Given the description of an element on the screen output the (x, y) to click on. 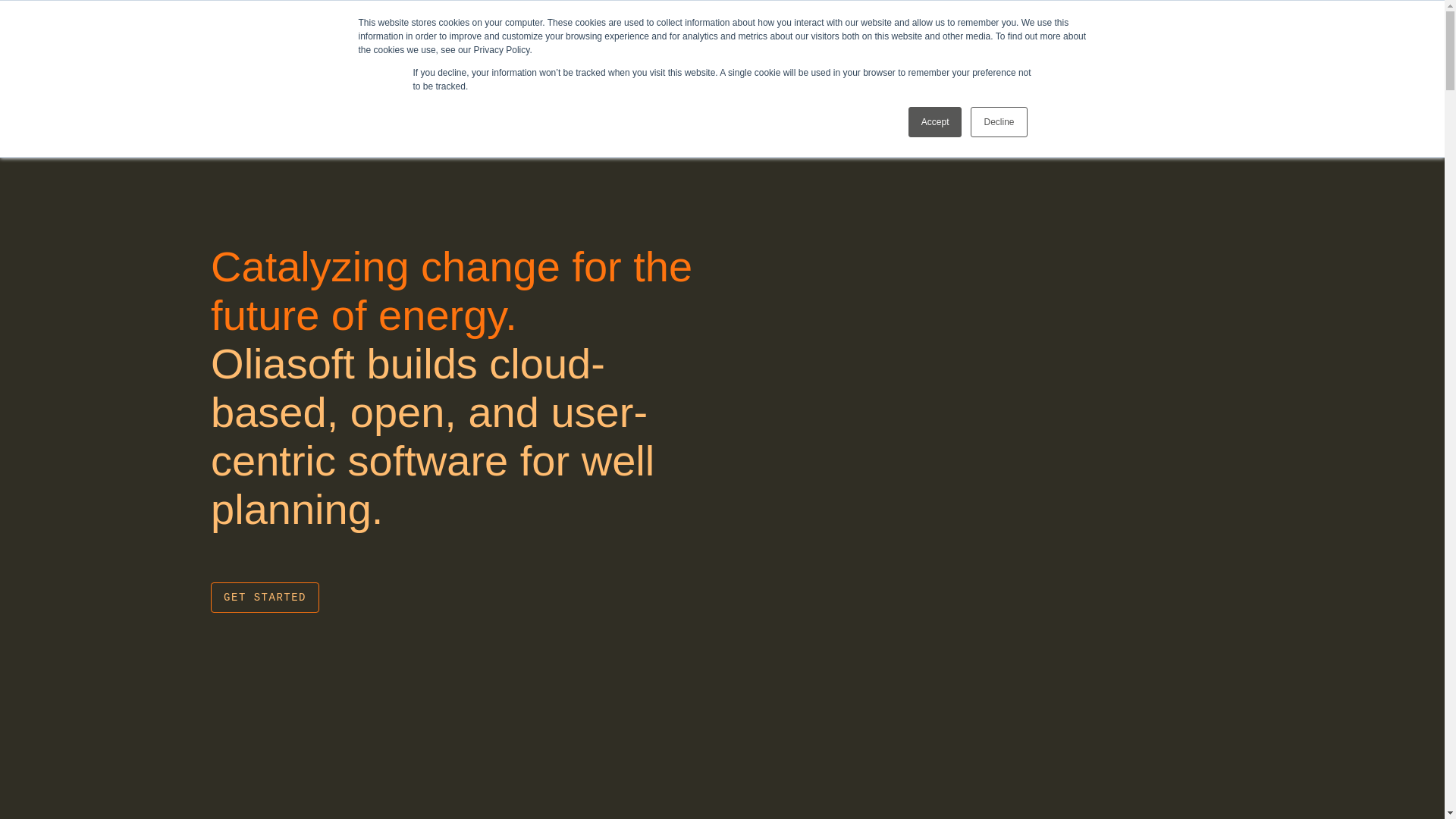
LOG IN (1303, 33)
GET STARTED (264, 597)
Decline (998, 122)
Resources (803, 34)
Company (706, 34)
GET STARTED (1201, 33)
Products (456, 34)
Accept (935, 122)
